Given the description of an element on the screen output the (x, y) to click on. 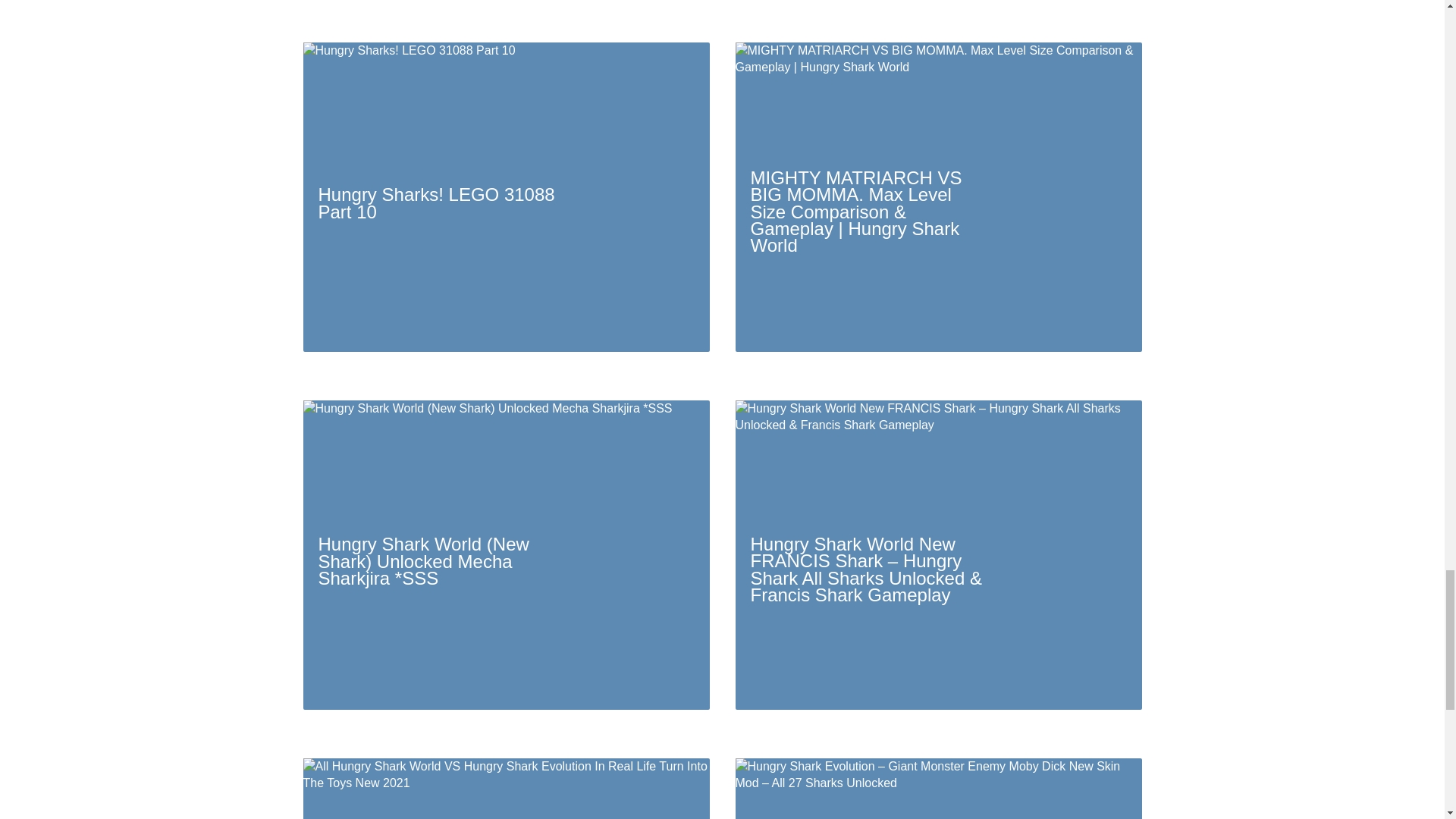
Hungry Sharks! LEGO 31088 Part 10 (506, 197)
